Given the description of an element on the screen output the (x, y) to click on. 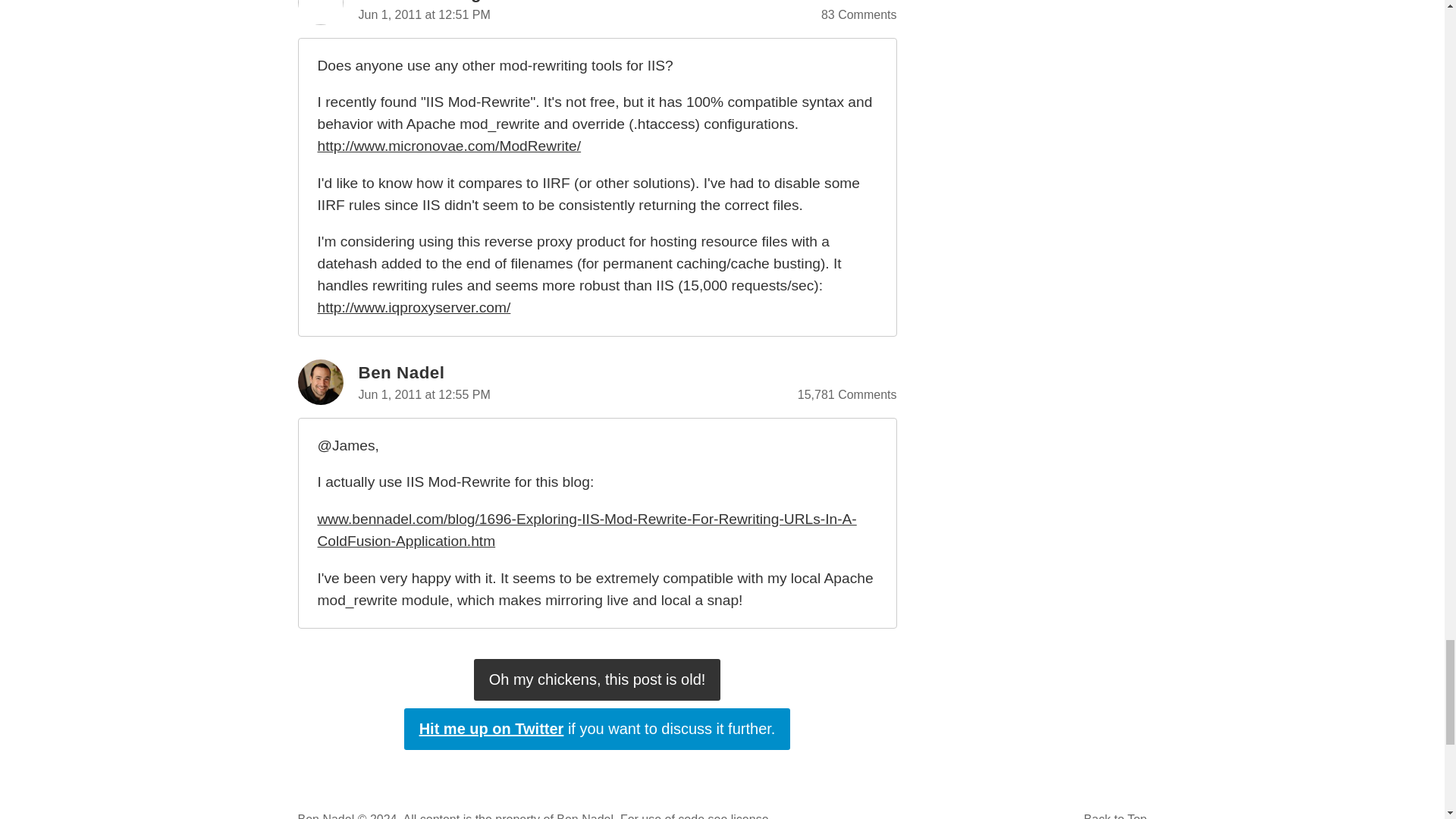
Ben Nadel's Twitter Account (597, 729)
